Given the description of an element on the screen output the (x, y) to click on. 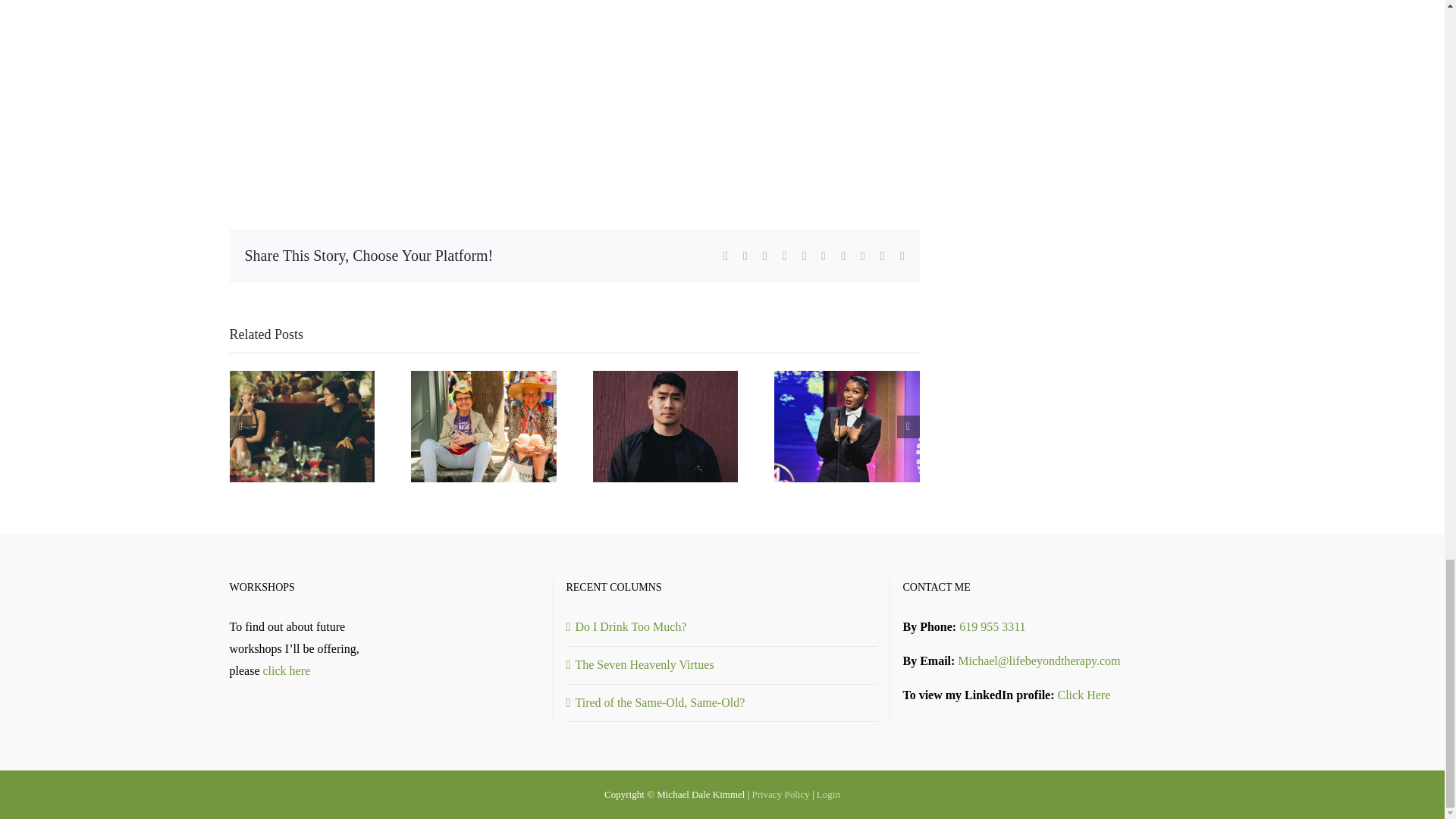
LinkedIn (785, 256)
Xing (882, 256)
Facebook (725, 256)
X (745, 256)
Vk (862, 256)
Email (901, 256)
Reddit (764, 256)
WhatsApp (804, 256)
Tumblr (823, 256)
Pinterest (843, 256)
